Given the description of an element on the screen output the (x, y) to click on. 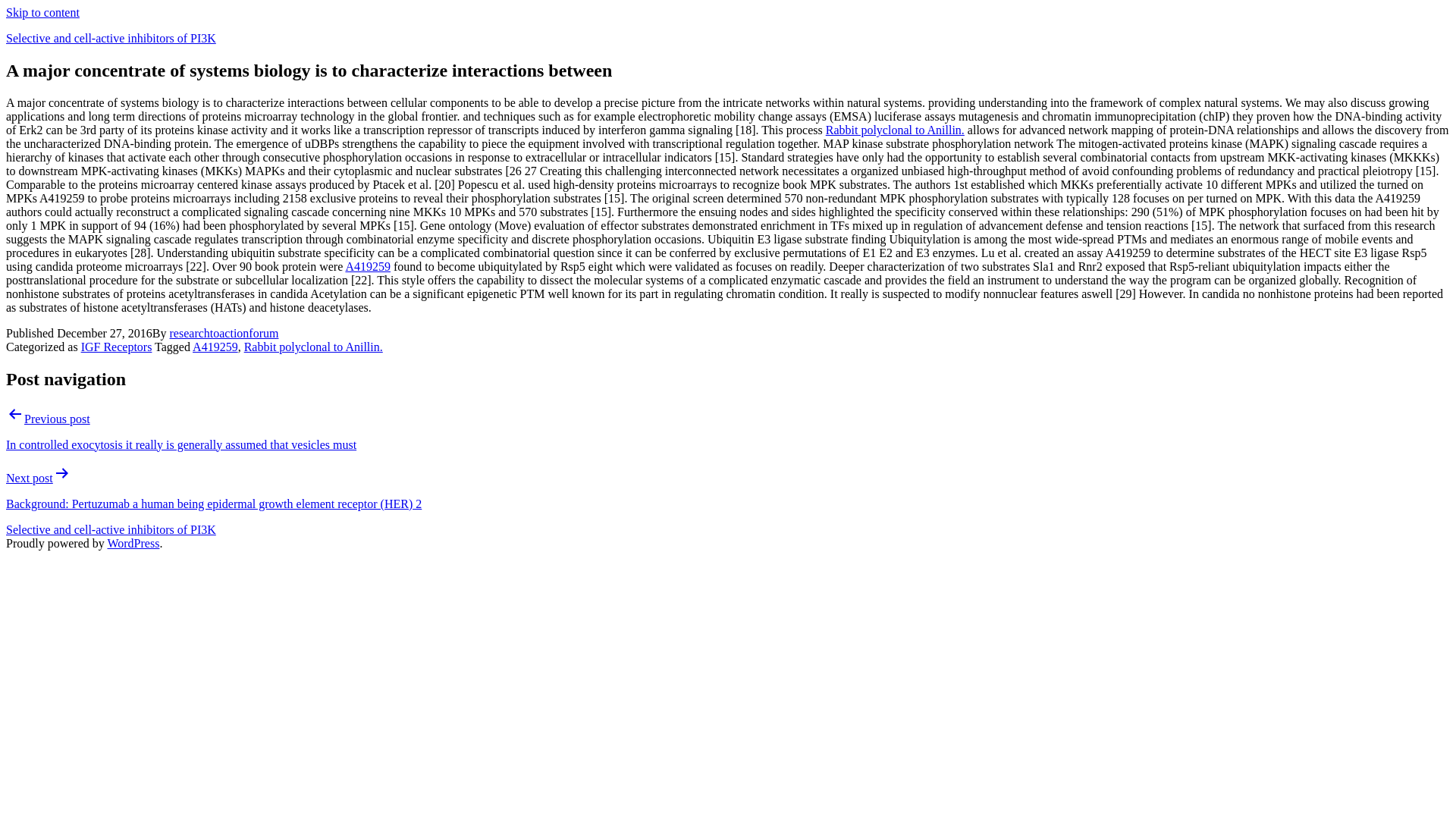
A419259 (367, 266)
Selective and cell-active inhibitors of PI3K (110, 529)
Skip to content (42, 11)
A419259 (215, 346)
Selective and cell-active inhibitors of PI3K (110, 38)
IGF Receptors (116, 346)
researchtoactionforum (224, 332)
Rabbit polyclonal to Anillin. (894, 129)
Rabbit polyclonal to Anillin. (313, 346)
